Given the description of an element on the screen output the (x, y) to click on. 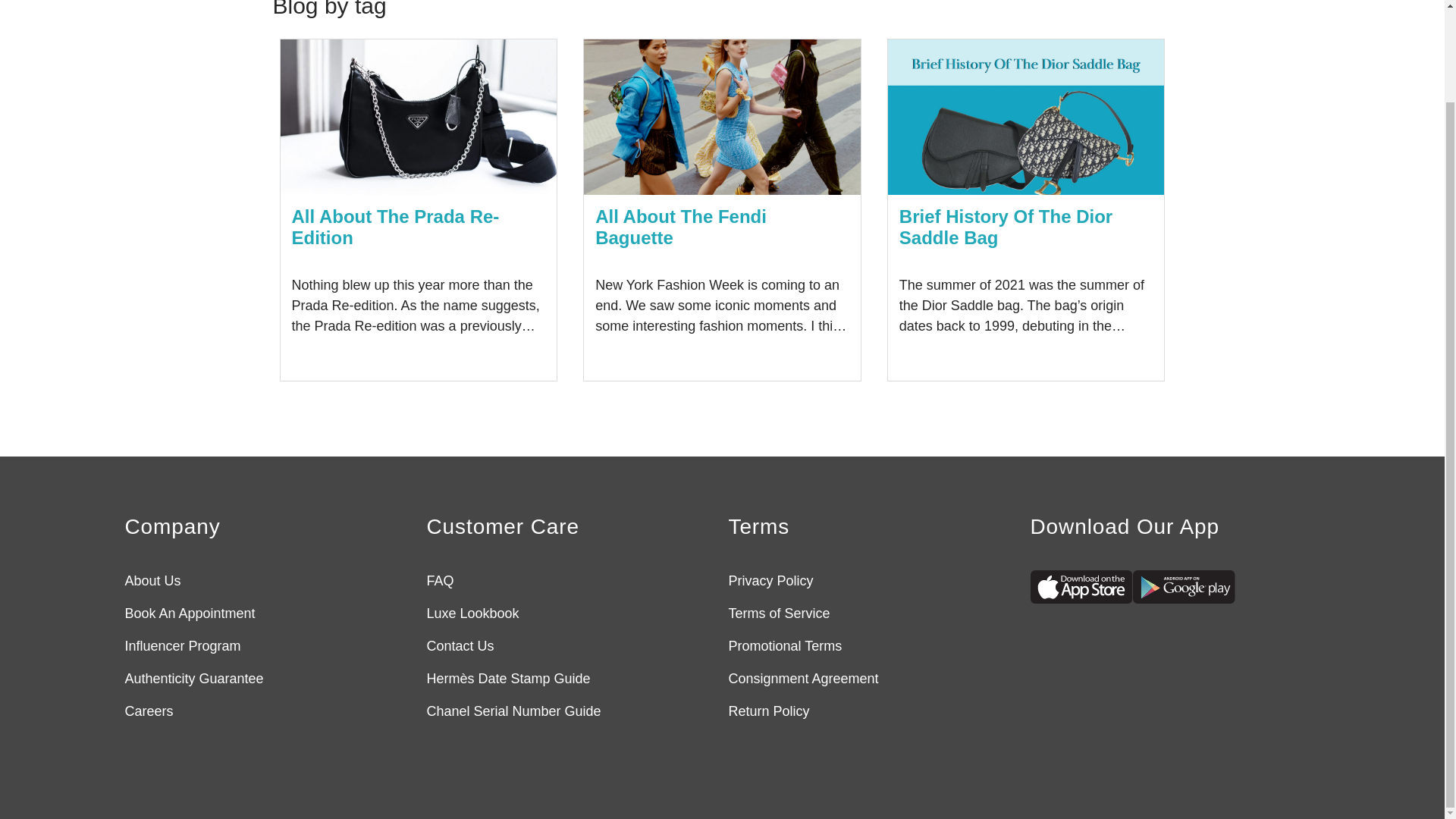
Brief History Of The Dior Saddle Bag (1005, 227)
Book An Appointment (188, 613)
Privacy Policy (770, 580)
Promotional Terms (784, 645)
Luxe Lookbook (472, 613)
Influencer Program (181, 645)
Contact Us (459, 645)
About Us (151, 580)
FAQ (439, 580)
Chanel Serial Number Guide (512, 711)
